Given the description of an element on the screen output the (x, y) to click on. 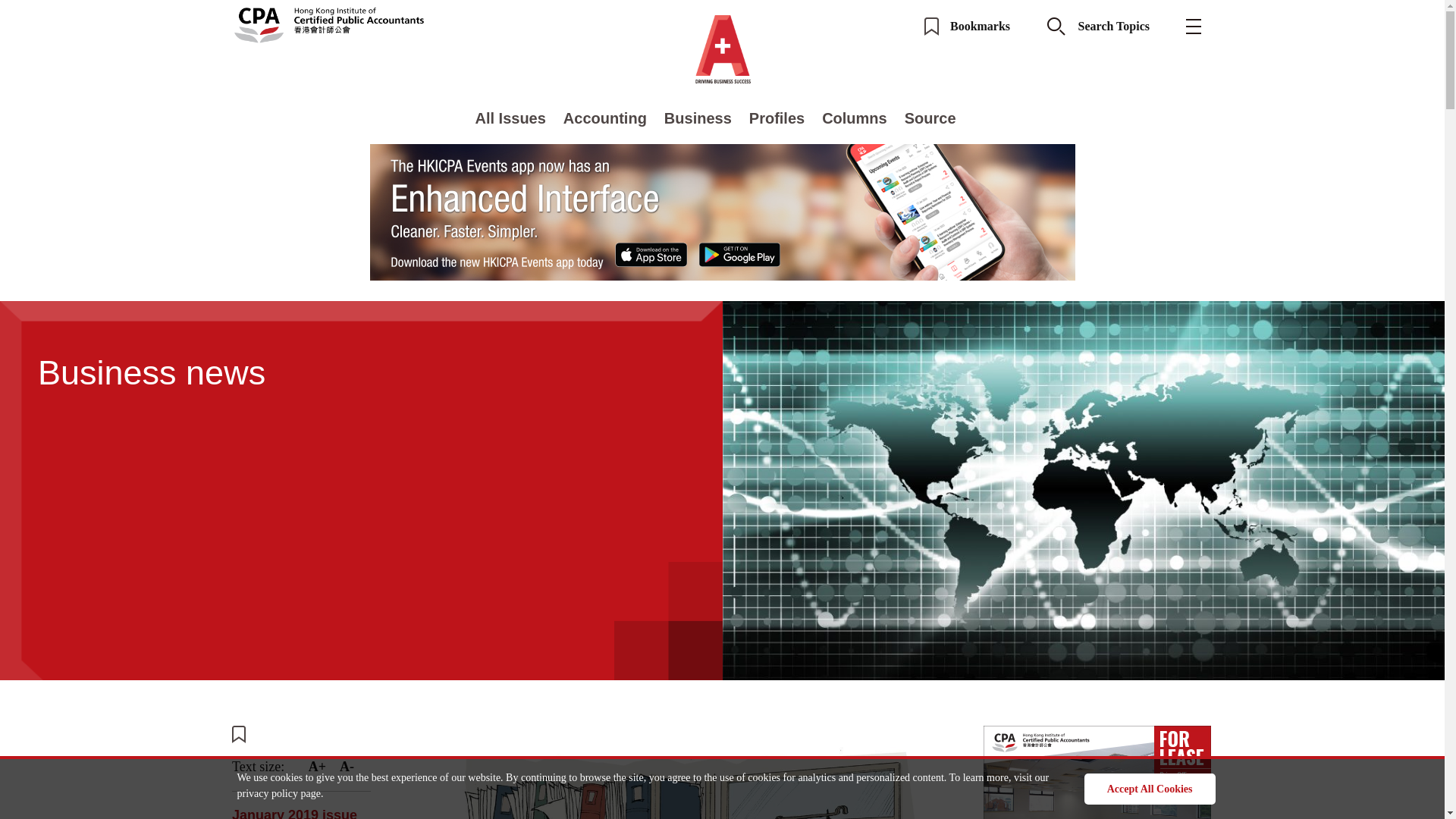
Accounting (604, 117)
Columns (854, 117)
All Issues (509, 117)
Business (697, 117)
Source (930, 117)
Bookmarks (967, 25)
Profiles (777, 117)
